Given the description of an element on the screen output the (x, y) to click on. 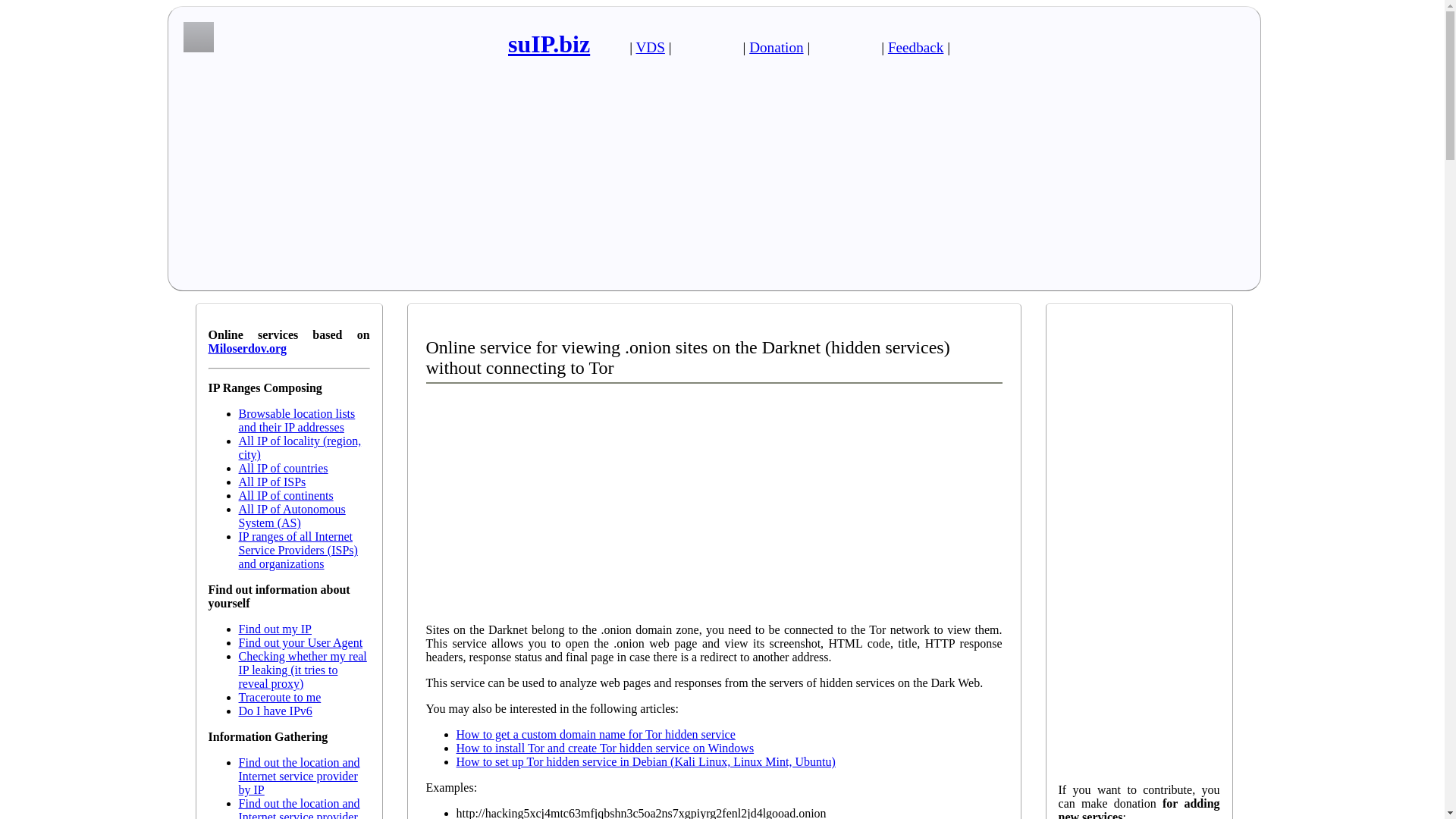
suIP.biz (548, 43)
All IP of continents (285, 495)
VDS (648, 47)
Advertisement (714, 504)
All IP of countries (283, 468)
All IP of ISPs (271, 481)
Find out the location and Internet service provider by IPv6 (298, 807)
Do I have IPv6 (275, 710)
Find out your User Agent (300, 642)
Find out the location and Internet service provider by IP (298, 775)
